Given the description of an element on the screen output the (x, y) to click on. 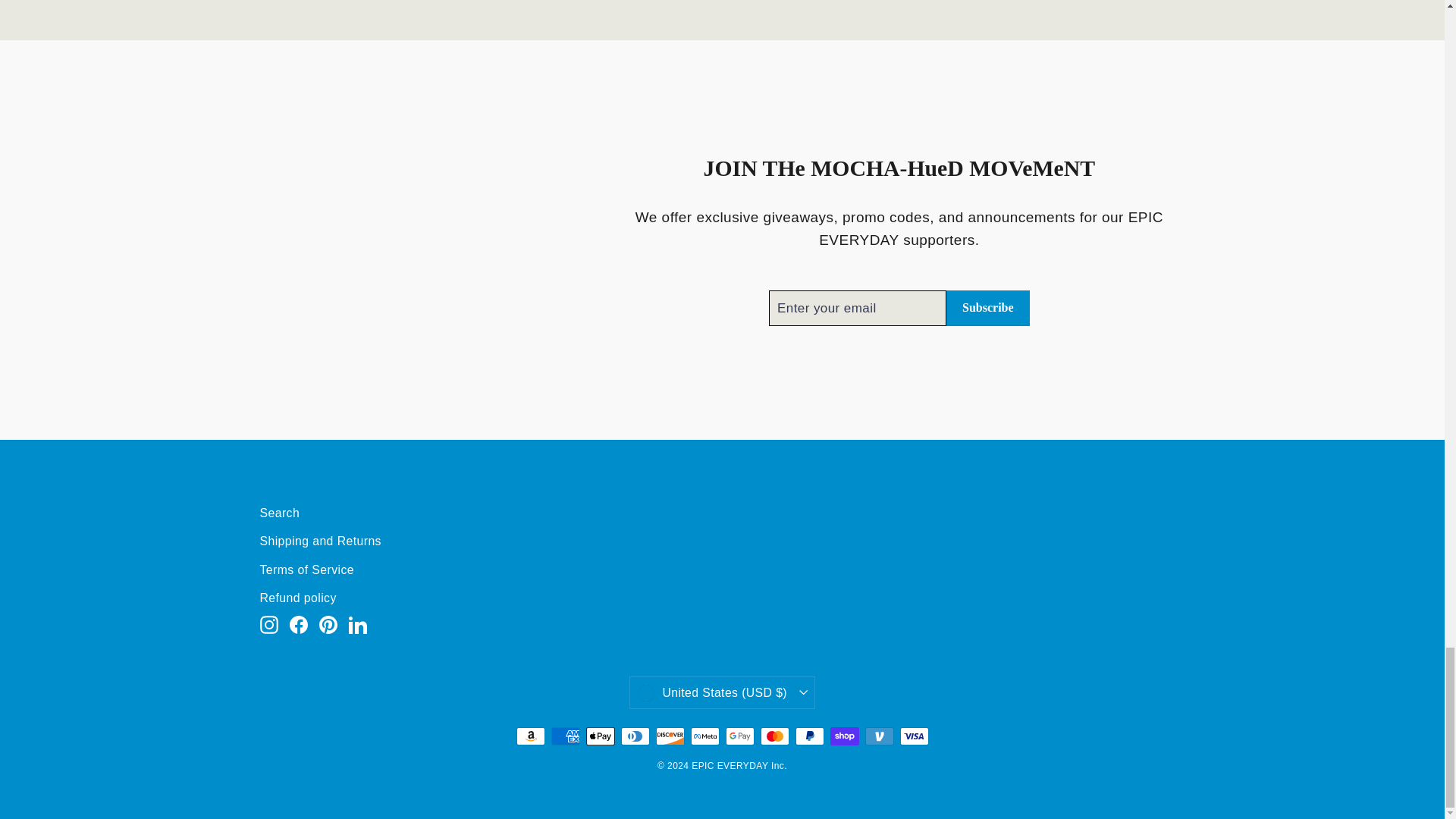
instagram (268, 624)
Discover (669, 736)
Diners Club (634, 736)
Meta Pay (704, 736)
EPIC EVERYDAY Inc. on Facebook (298, 624)
American Express (564, 736)
EPIC EVERYDAY Inc. on Pinterest (327, 624)
Apple Pay (599, 736)
Amazon (529, 736)
EPIC EVERYDAY Inc. on LinkedIn (357, 624)
